Given the description of an element on the screen output the (x, y) to click on. 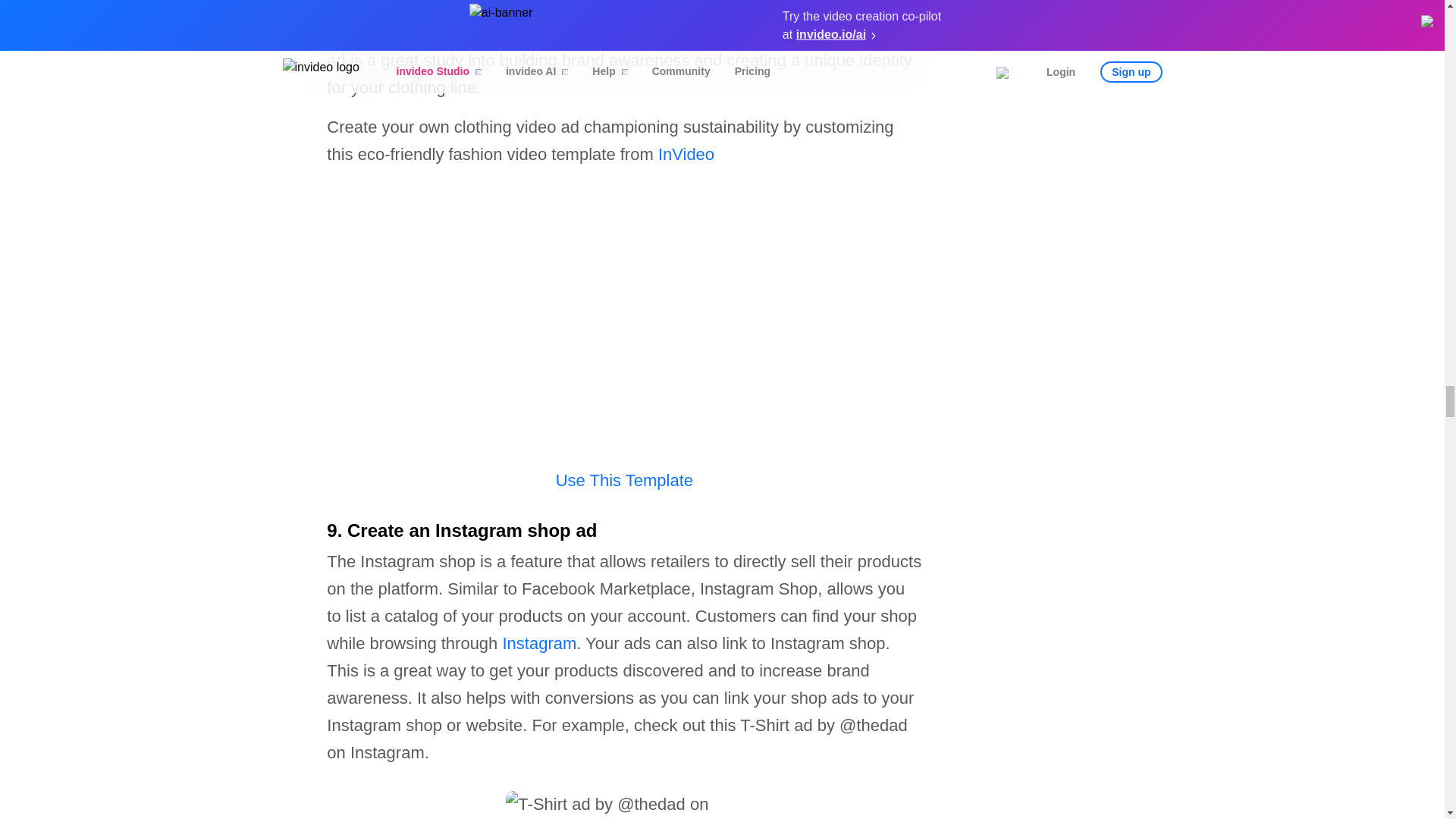
Use This Template (624, 479)
InVideo (686, 153)
